Given the description of an element on the screen output the (x, y) to click on. 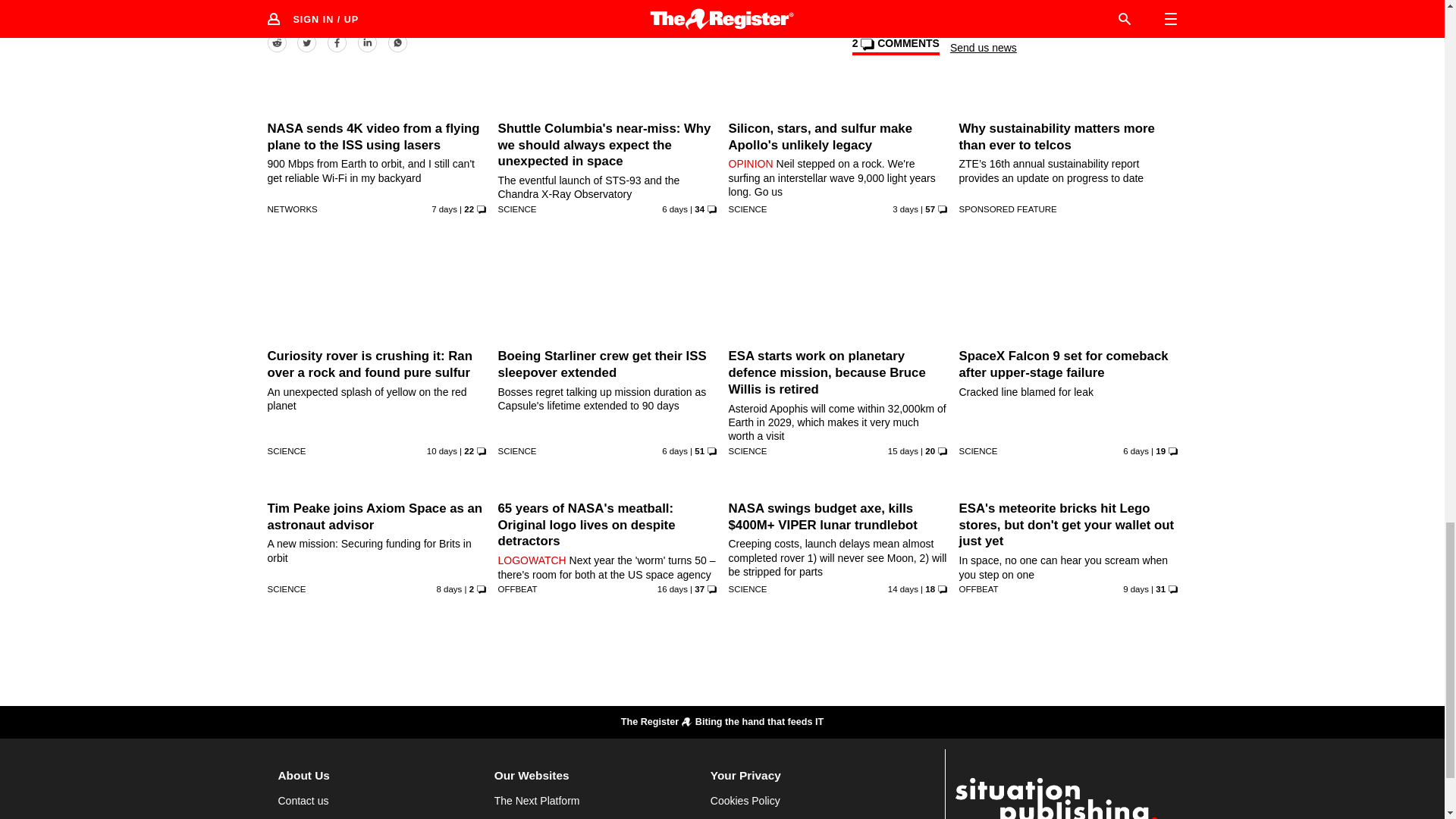
25 Jul 2024 19:2 (443, 208)
29 Jul 2024 8:35 (905, 208)
26 Jul 2024 9:33 (674, 208)
View comments on this article (895, 45)
